Given the description of an element on the screen output the (x, y) to click on. 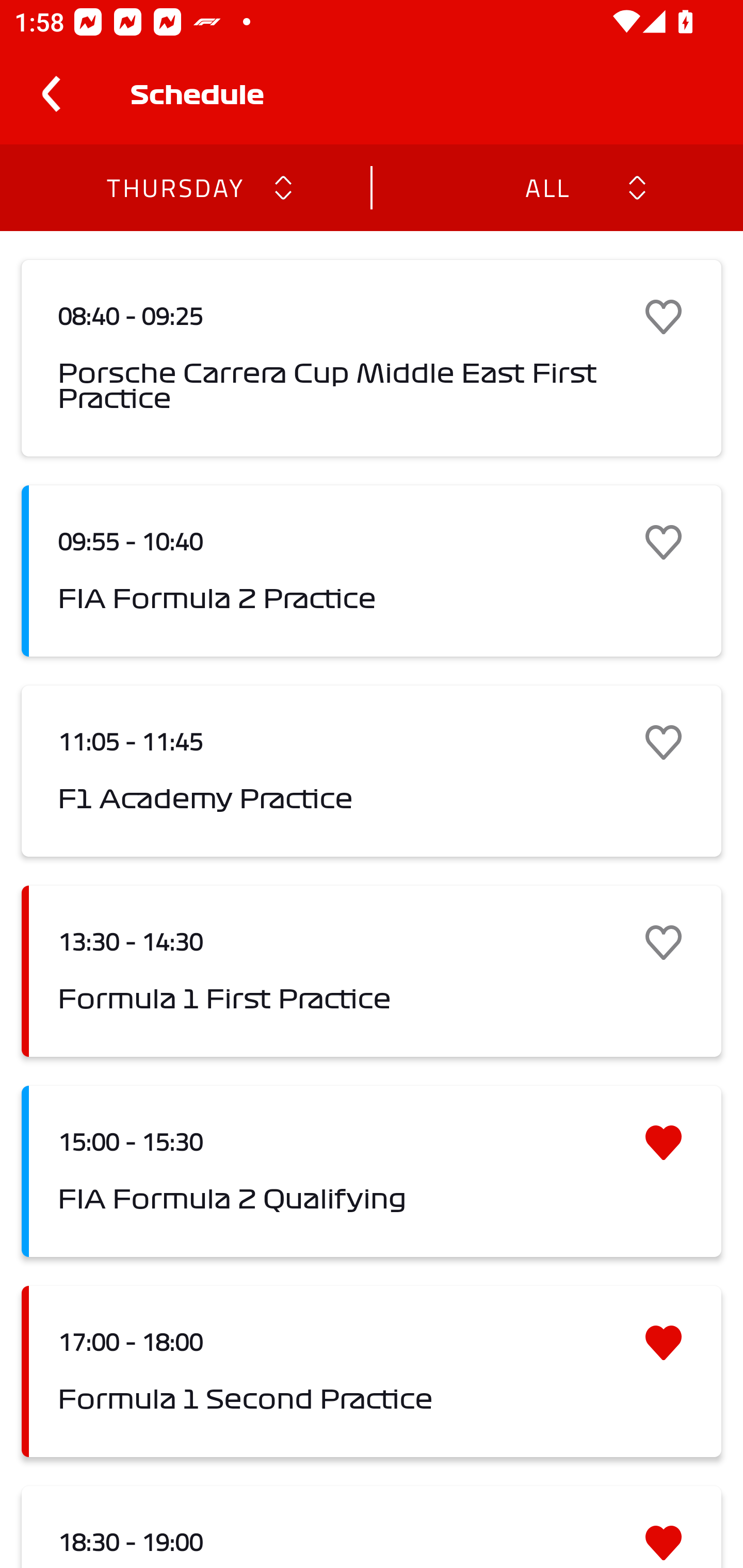
Navigate up (50, 93)
THURSDAY (174, 187)
ALL (546, 187)
09:55 - 10:40 FIA Formula 2 Practice (371, 571)
11:05 - 11:45 F1 Academy Practice (371, 770)
13:30 - 14:30 Formula 1 First Practice (371, 970)
15:00 - 15:30 FIA Formula 2 Qualifying (371, 1171)
17:00 - 18:00 Formula 1 Second Practice (371, 1370)
18:30 - 19:00 (371, 1527)
